Given the description of an element on the screen output the (x, y) to click on. 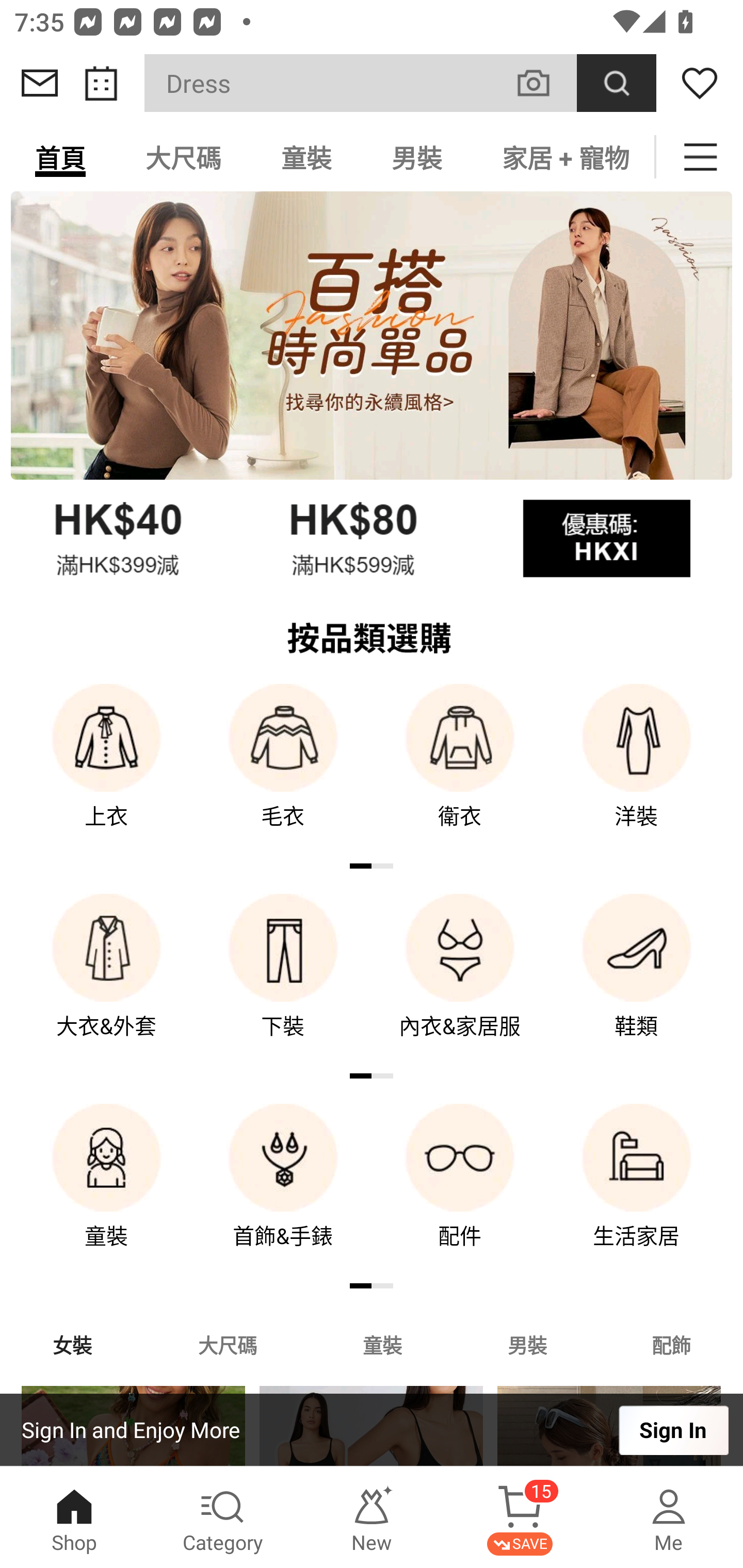
Wishlist (699, 82)
VISUAL SEARCH (543, 82)
首頁 (60, 156)
大尺碼 (183, 156)
童裝 (306, 156)
男裝 (416, 156)
家居 + 寵物 (563, 156)
上衣 (105, 769)
毛衣 (282, 769)
衛衣 (459, 769)
洋裝 (636, 769)
大衣&外套 (105, 979)
下裝 (282, 979)
內衣&家居服 (459, 979)
鞋類 (636, 979)
童裝 (105, 1189)
首飾&手錶 (282, 1189)
配件 (459, 1189)
生活家居 (636, 1189)
女裝 (72, 1344)
大尺碼 (226, 1344)
童裝 (381, 1344)
男裝 (527, 1344)
配飾 (671, 1344)
Sign In and Enjoy More Sign In (371, 1429)
Category (222, 1517)
New (371, 1517)
Cart 15 SAVE (519, 1517)
Me (668, 1517)
